Given the description of an element on the screen output the (x, y) to click on. 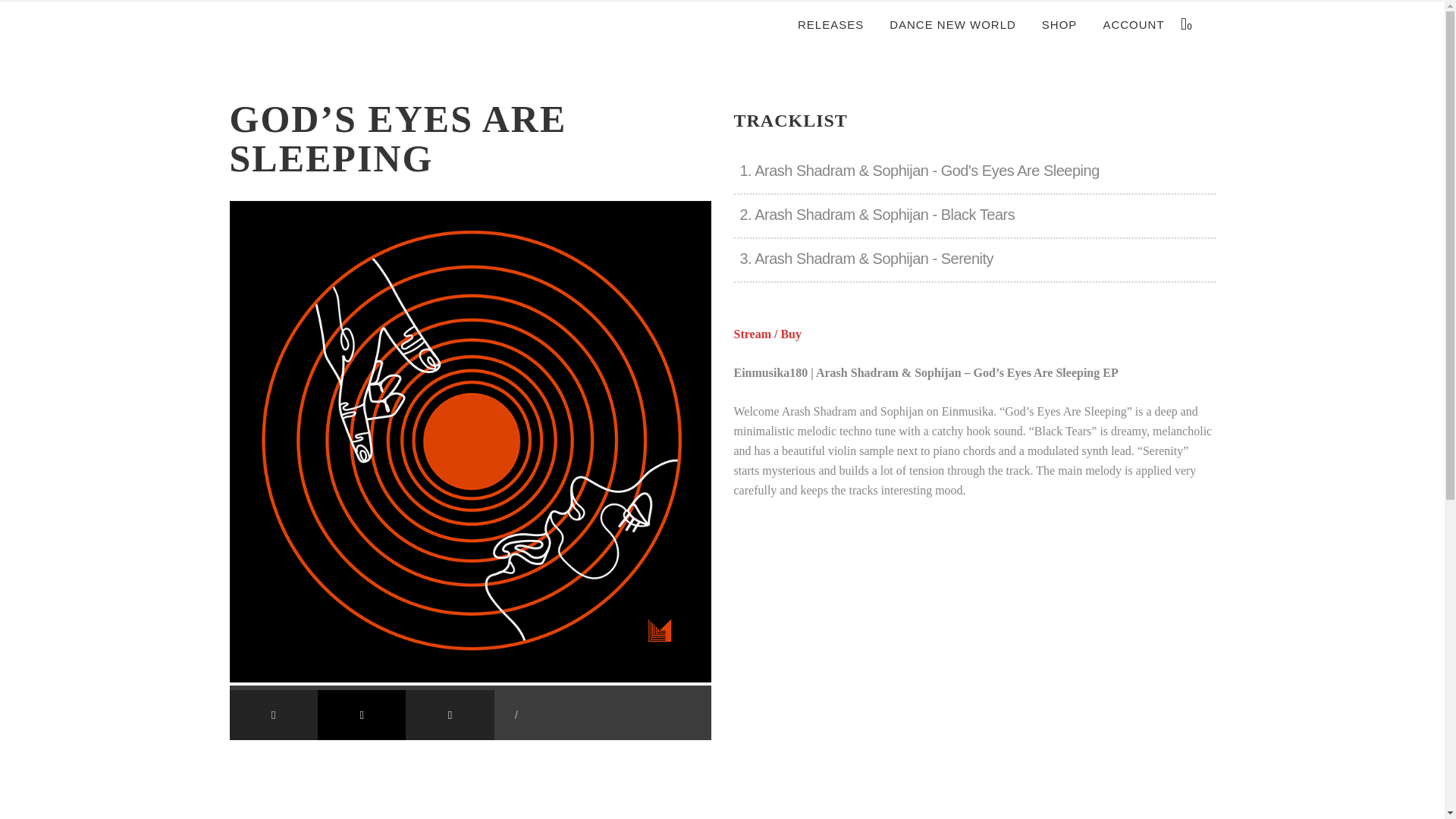
SHOP (1059, 24)
DANCE NEW WORLD (952, 24)
RELEASES (830, 24)
ACCOUNT (1132, 24)
